Given the description of an element on the screen output the (x, y) to click on. 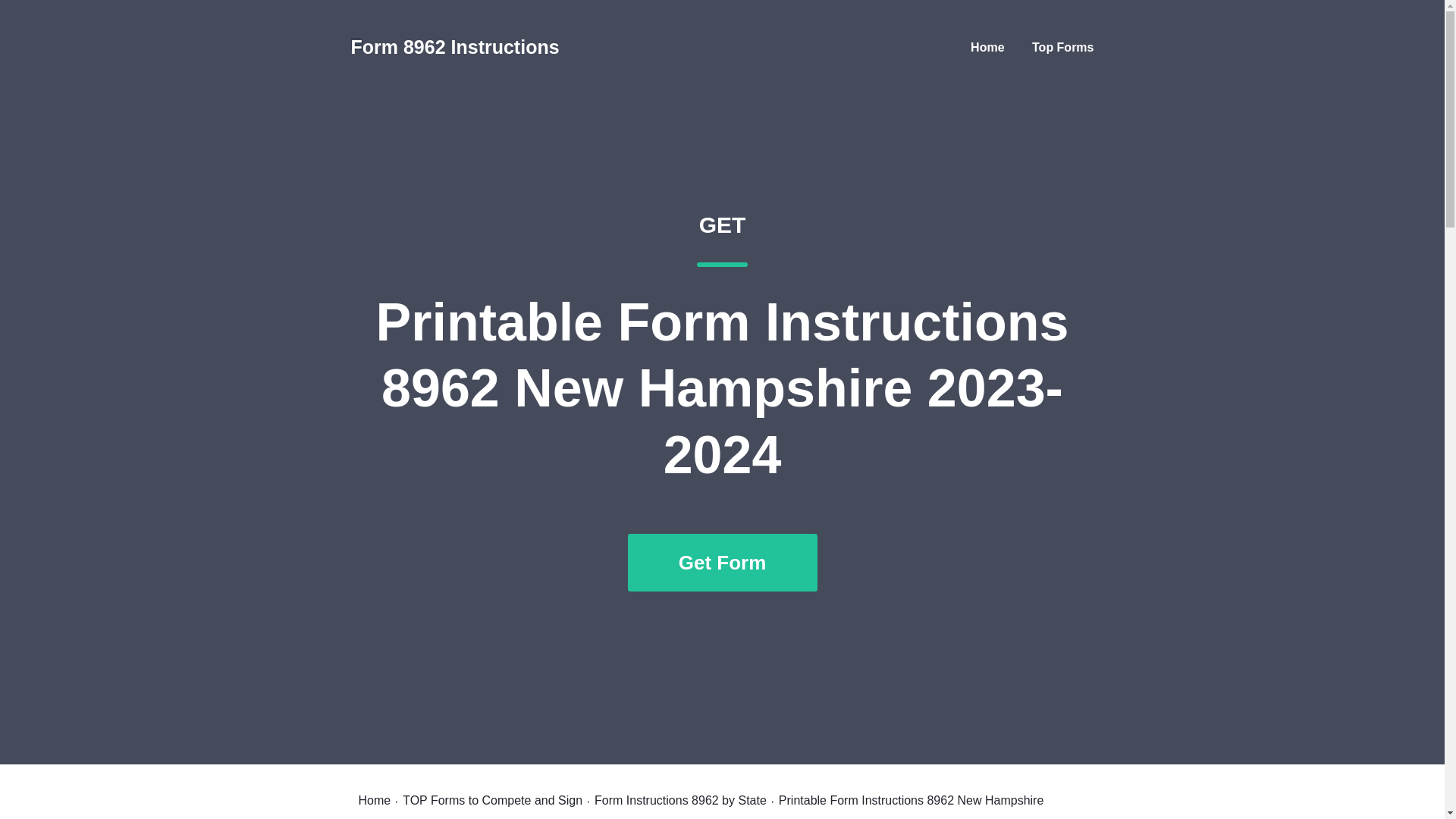
Home (374, 800)
Form 8962 Instructions (454, 46)
Top Forms (1062, 47)
Home (987, 47)
Form Instructions 8962 by State (680, 800)
TOP Forms to Compete and Sign (492, 800)
